Given the description of an element on the screen output the (x, y) to click on. 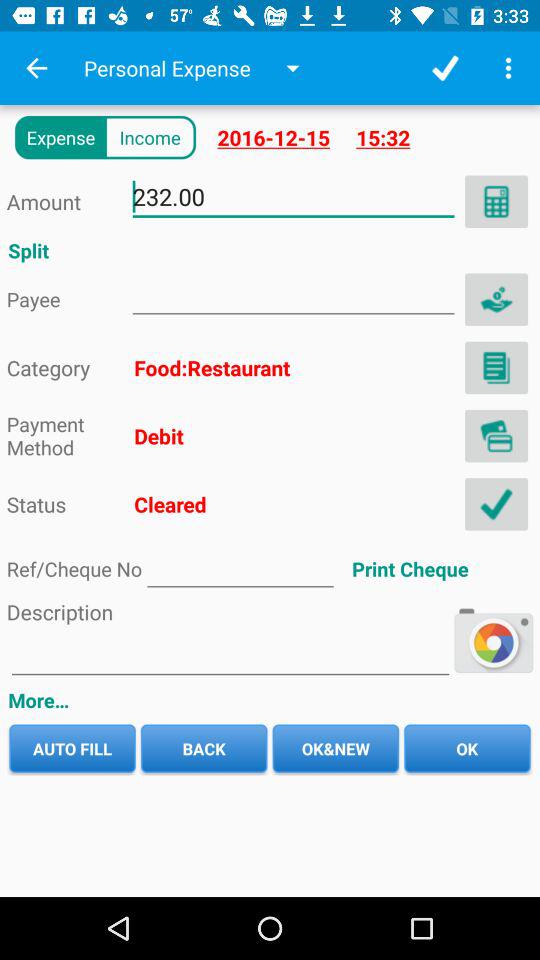
calculator (496, 201)
